Given the description of an element on the screen output the (x, y) to click on. 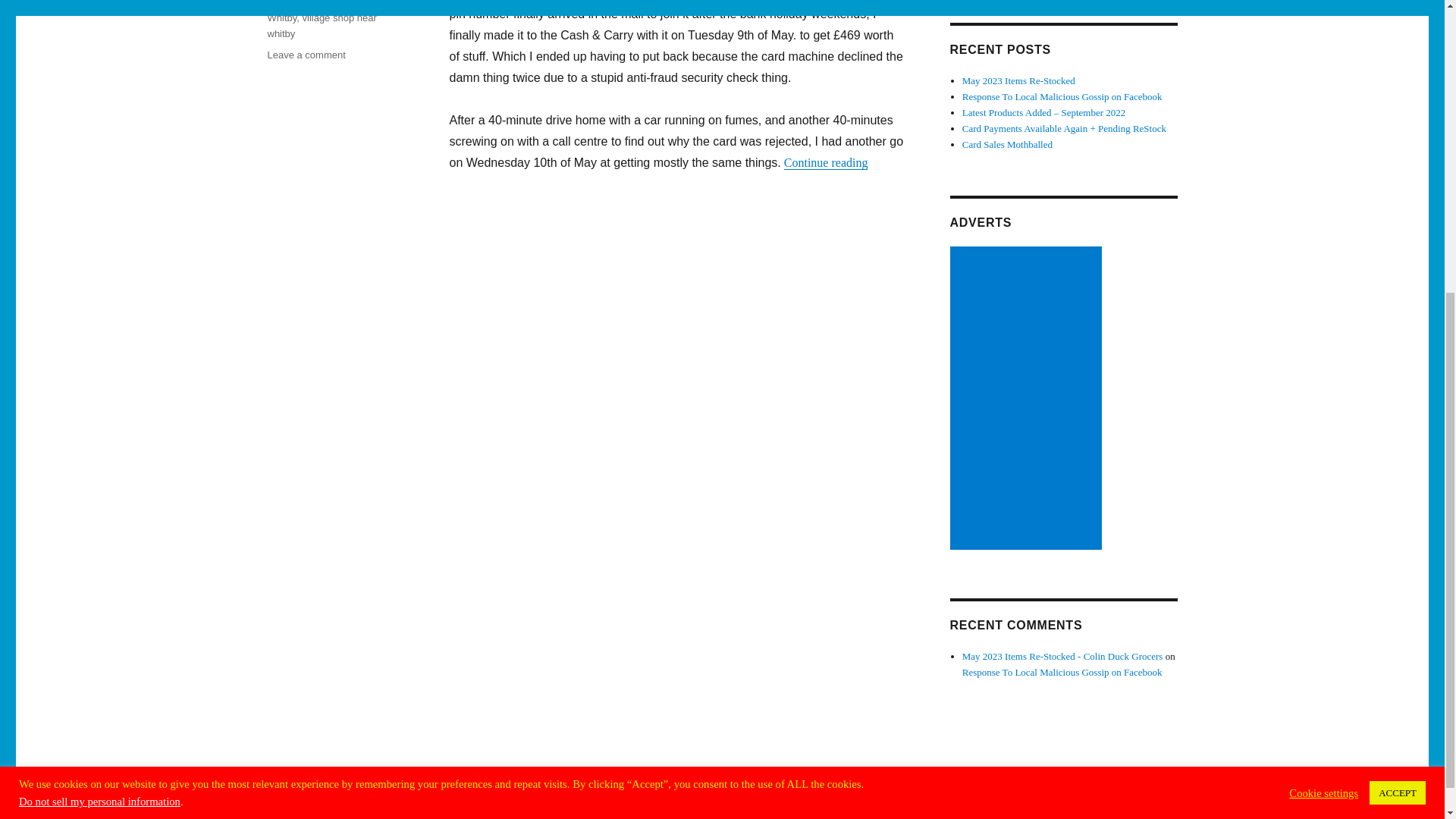
May 2023 Items Re-Stocked (1018, 80)
Card Sales Mothballed (1007, 143)
village shop near whitby (320, 25)
May 2023 Items Re-Stocked - Colin Duck Grocers (1062, 655)
Supermarkets Whitby (317, 11)
Response To Local Malicious Gossip on Facebook (1061, 96)
Response To Local Malicious Gossip on Facebook (1061, 672)
Latest Items In Stock (334, 3)
